Given the description of an element on the screen output the (x, y) to click on. 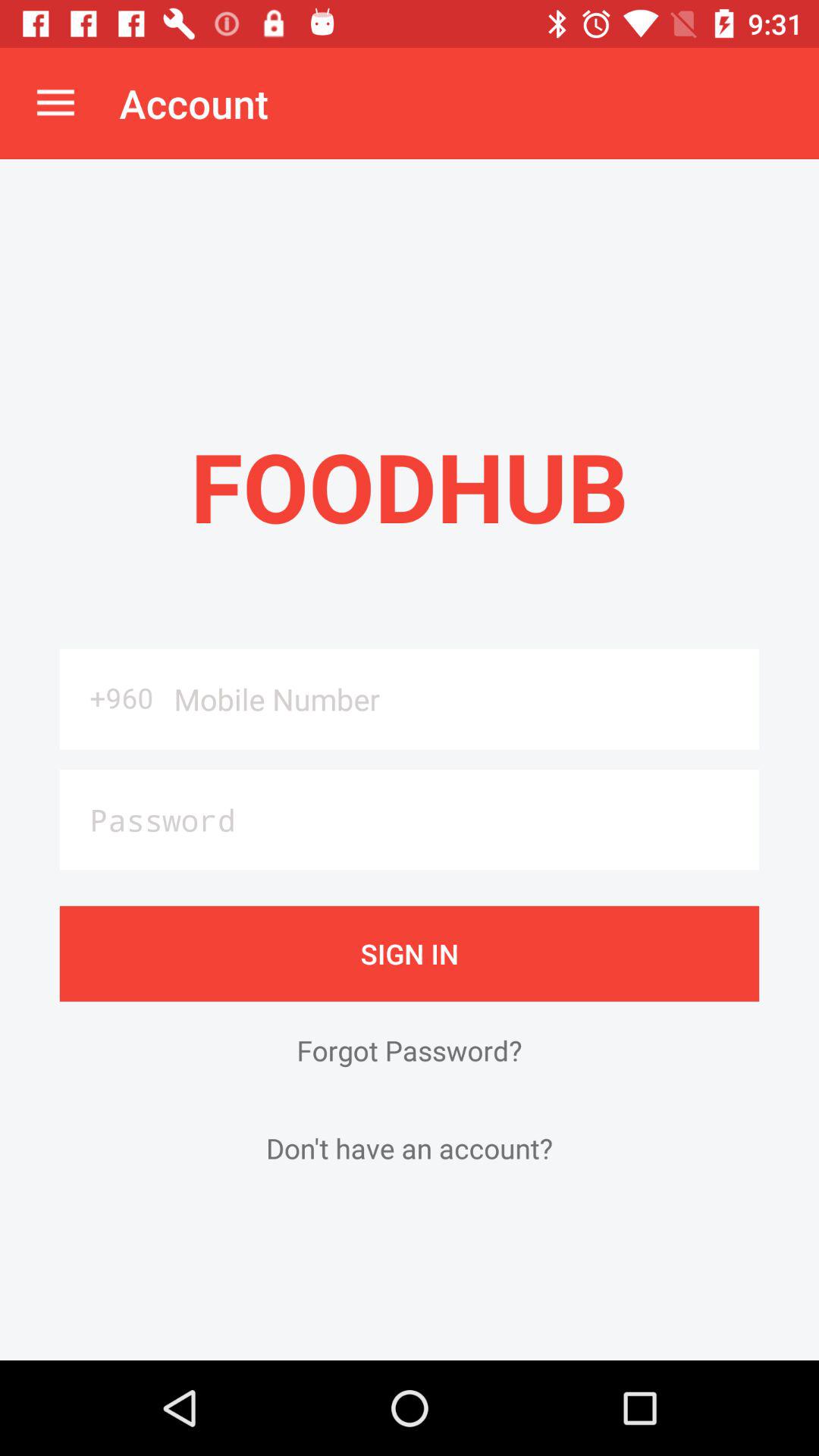
jump to the +960 icon (111, 697)
